Given the description of an element on the screen output the (x, y) to click on. 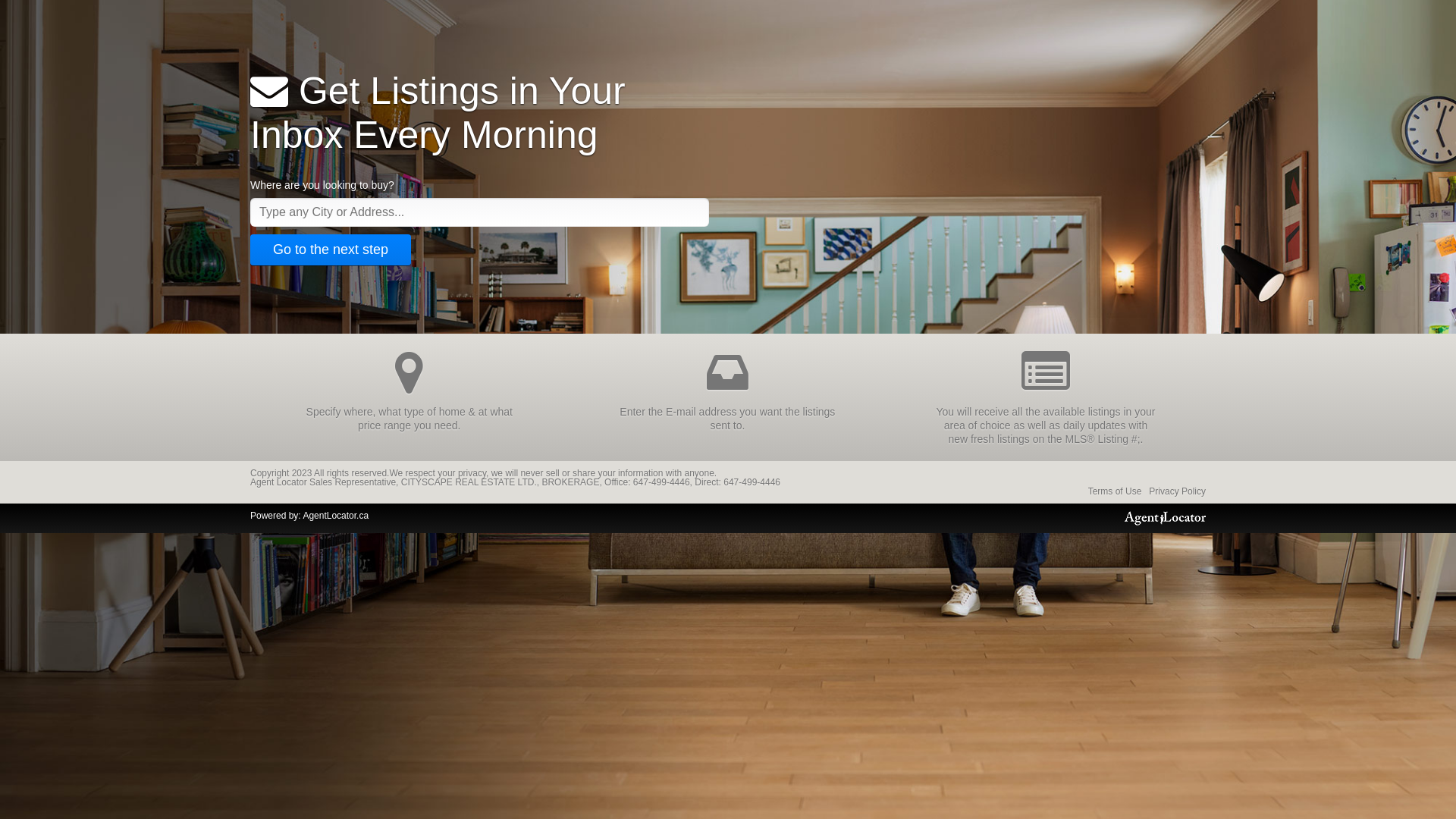
Go to the next step Element type: text (330, 249)
Powered by: AgentLocator.ca Element type: text (309, 515)
Terms of Use Element type: text (1115, 490)
Privacy Policy Element type: text (1176, 490)
